Given the description of an element on the screen output the (x, y) to click on. 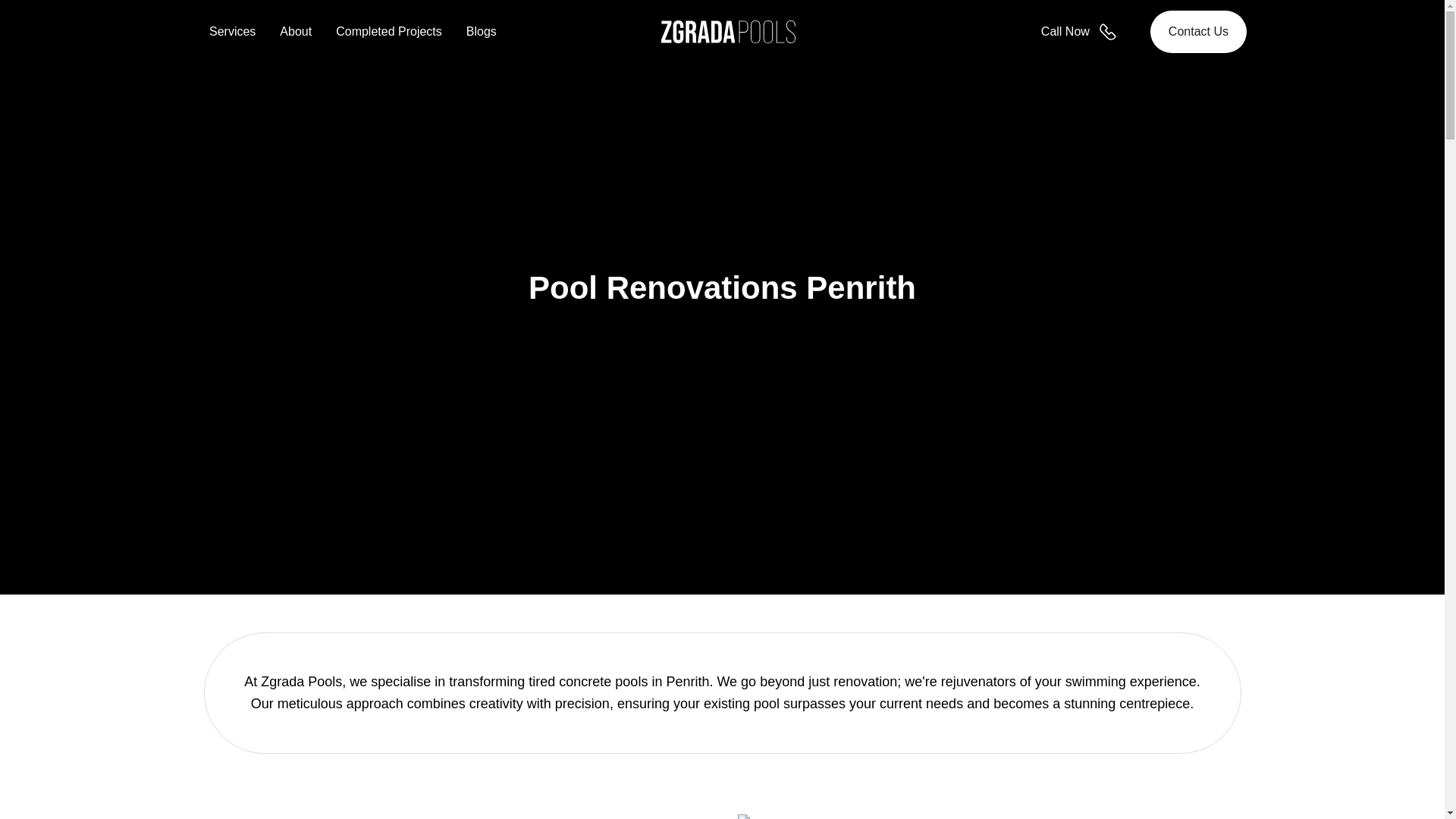
About (295, 31)
Call Now (1083, 31)
Completed Projects (389, 31)
Blogs (480, 31)
Services (232, 31)
